Given the description of an element on the screen output the (x, y) to click on. 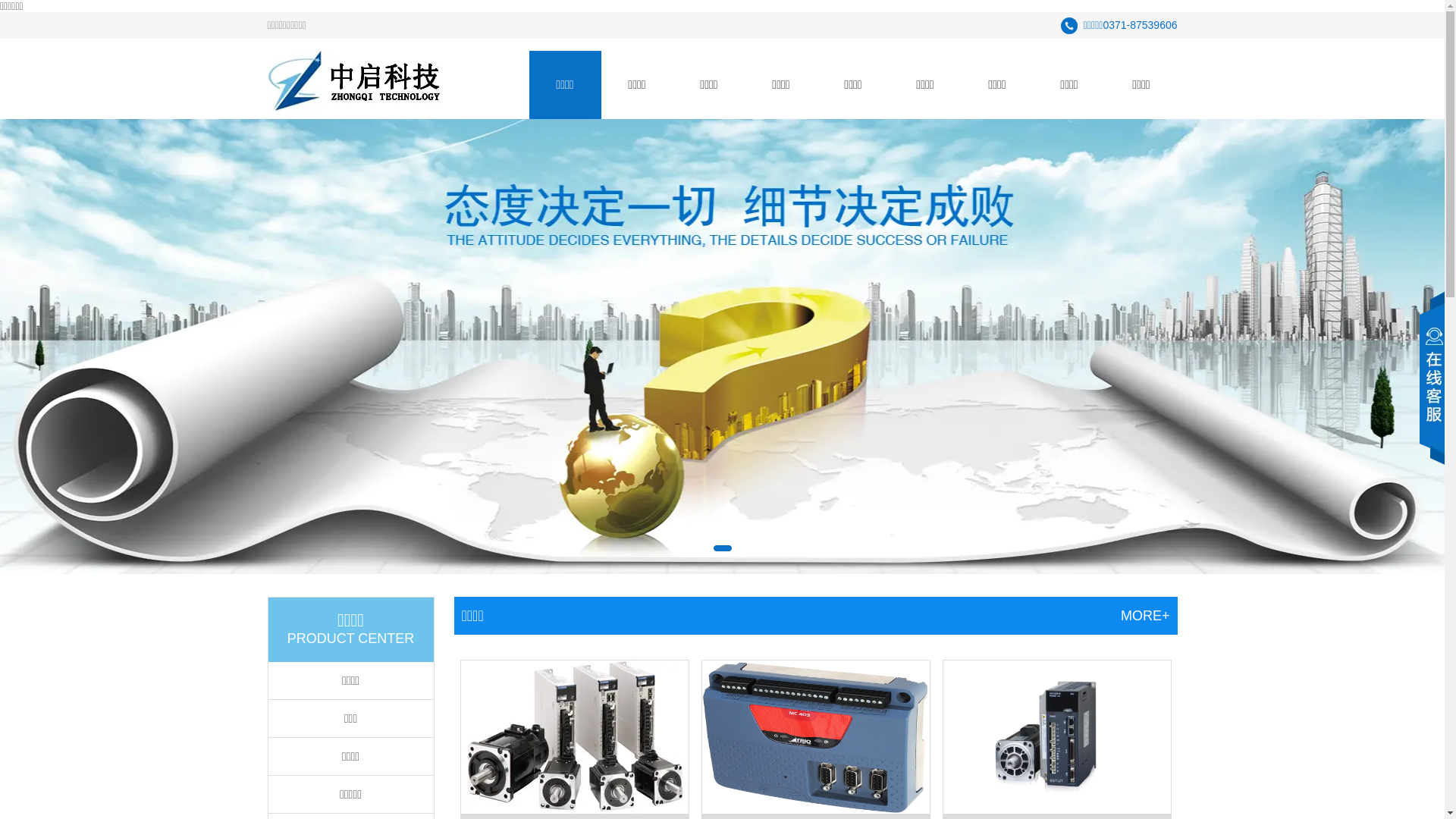
MORE+ Element type: text (1145, 615)
